Given the description of an element on the screen output the (x, y) to click on. 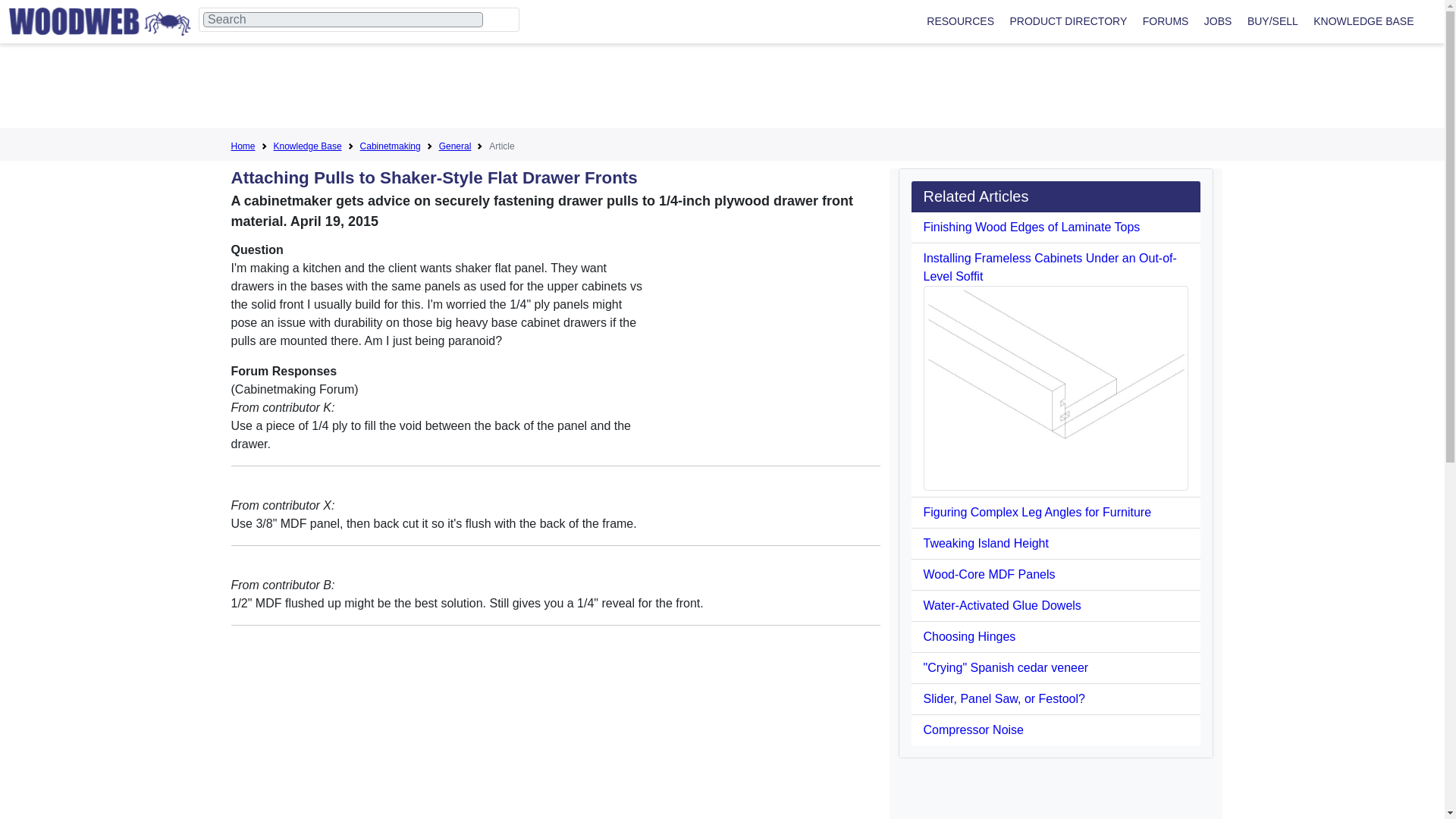
RESOURCES (960, 21)
Advertisement (721, 88)
Advertisement (554, 732)
PRODUCT DIRECTORY (1067, 21)
Advertisement (765, 335)
